Given the description of an element on the screen output the (x, y) to click on. 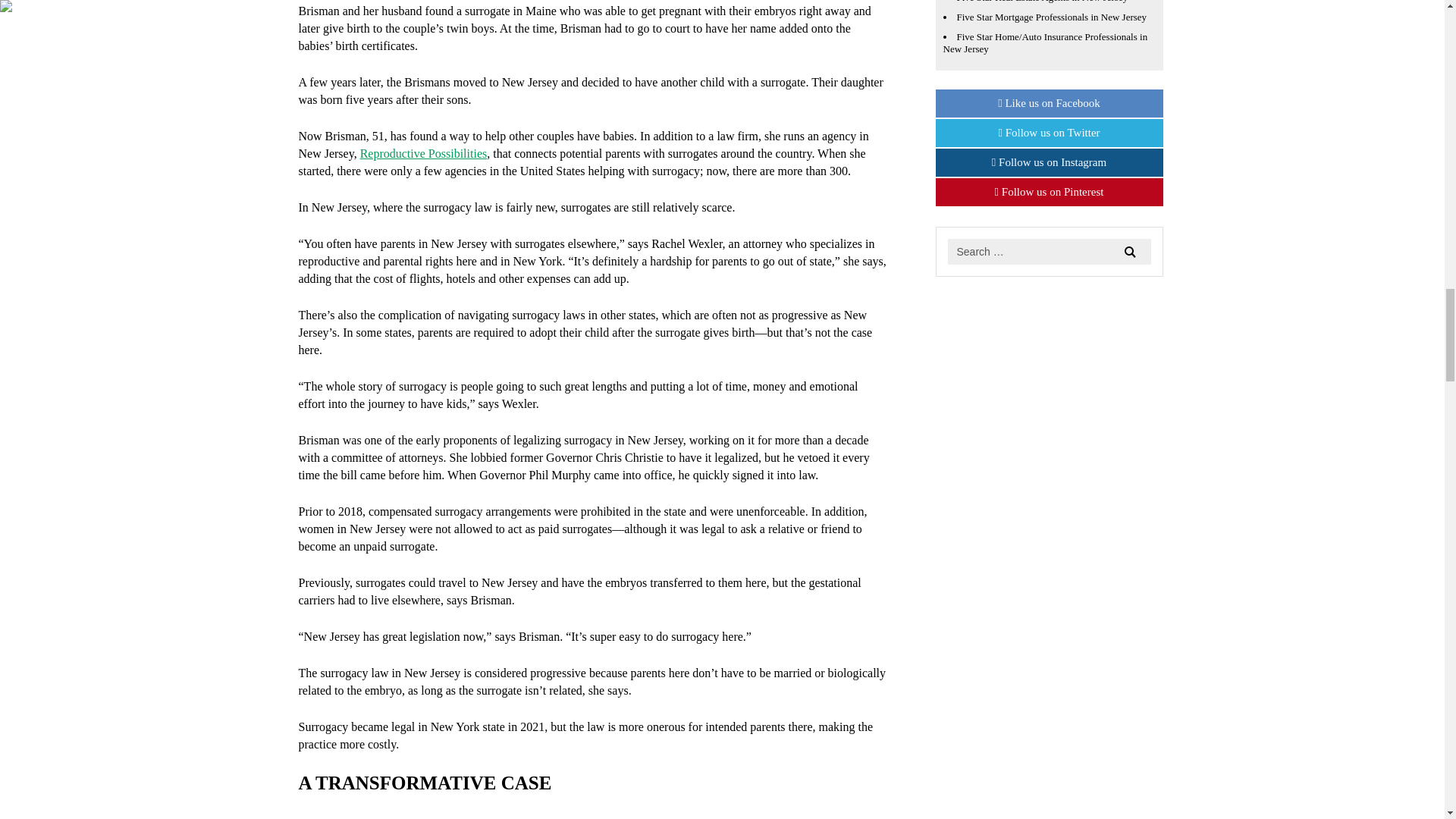
Search for: (1049, 251)
